Given the description of an element on the screen output the (x, y) to click on. 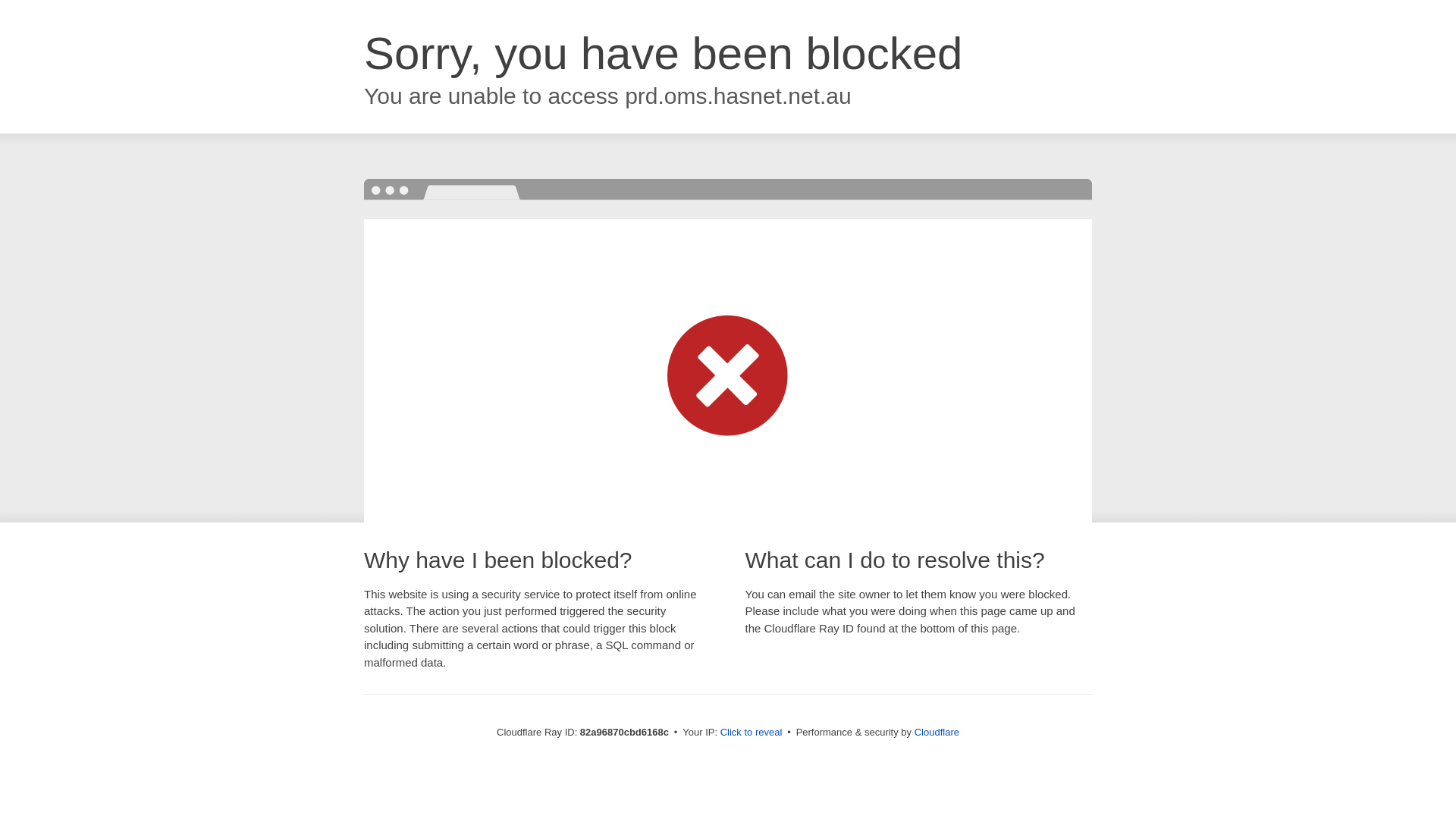
Click to reveal Element type: text (751, 732)
Cloudflare Element type: text (936, 731)
